Given the description of an element on the screen output the (x, y) to click on. 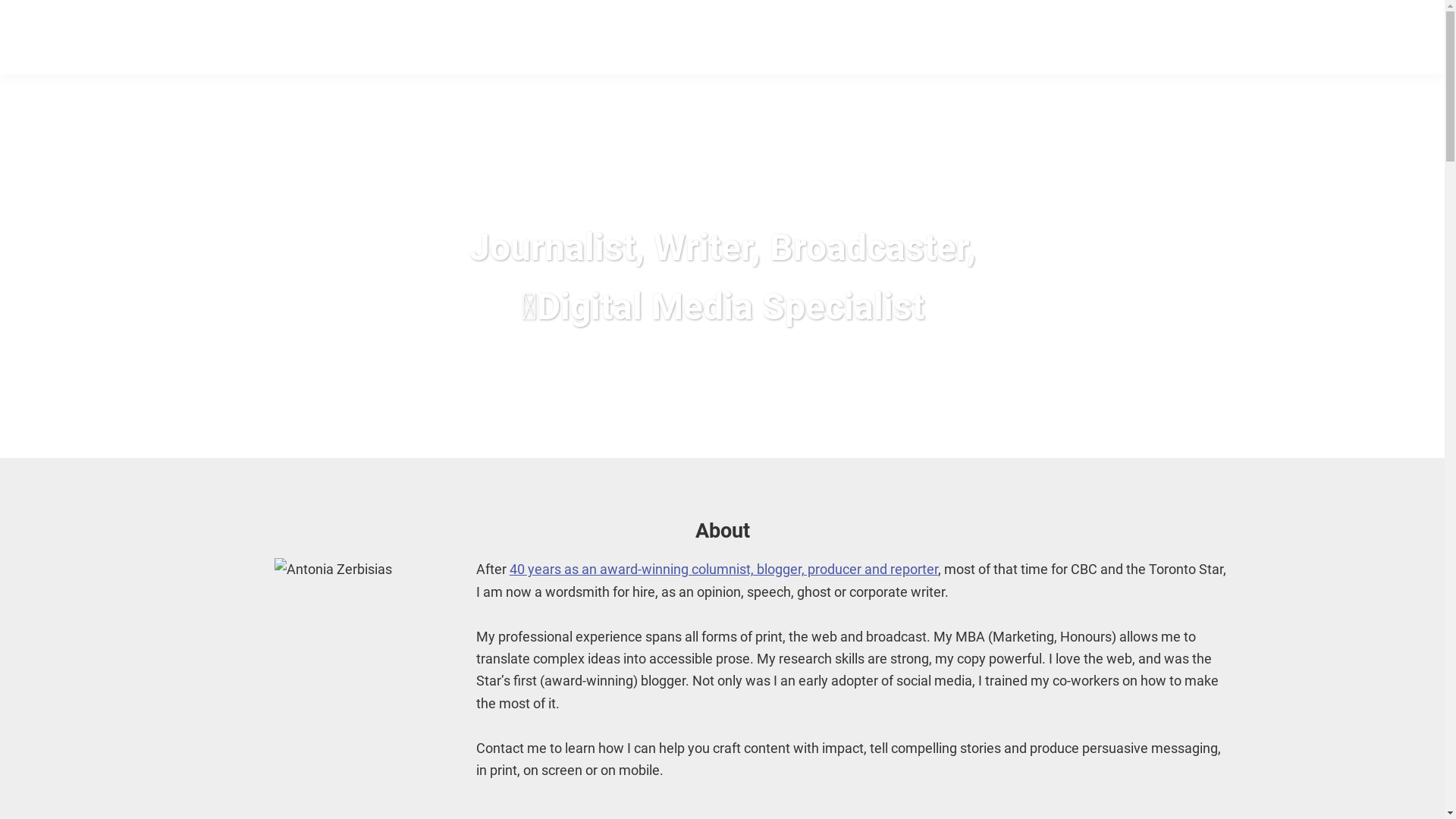
Contact Element type: text (1341, 37)
About Element type: text (1212, 37)
antonia zerbisias Element type: text (147, 36)
Portfolio Element type: text (1274, 37)
Blog Element type: text (1398, 37)
Skip to primary navigation Element type: text (0, 0)
